Given the description of an element on the screen output the (x, y) to click on. 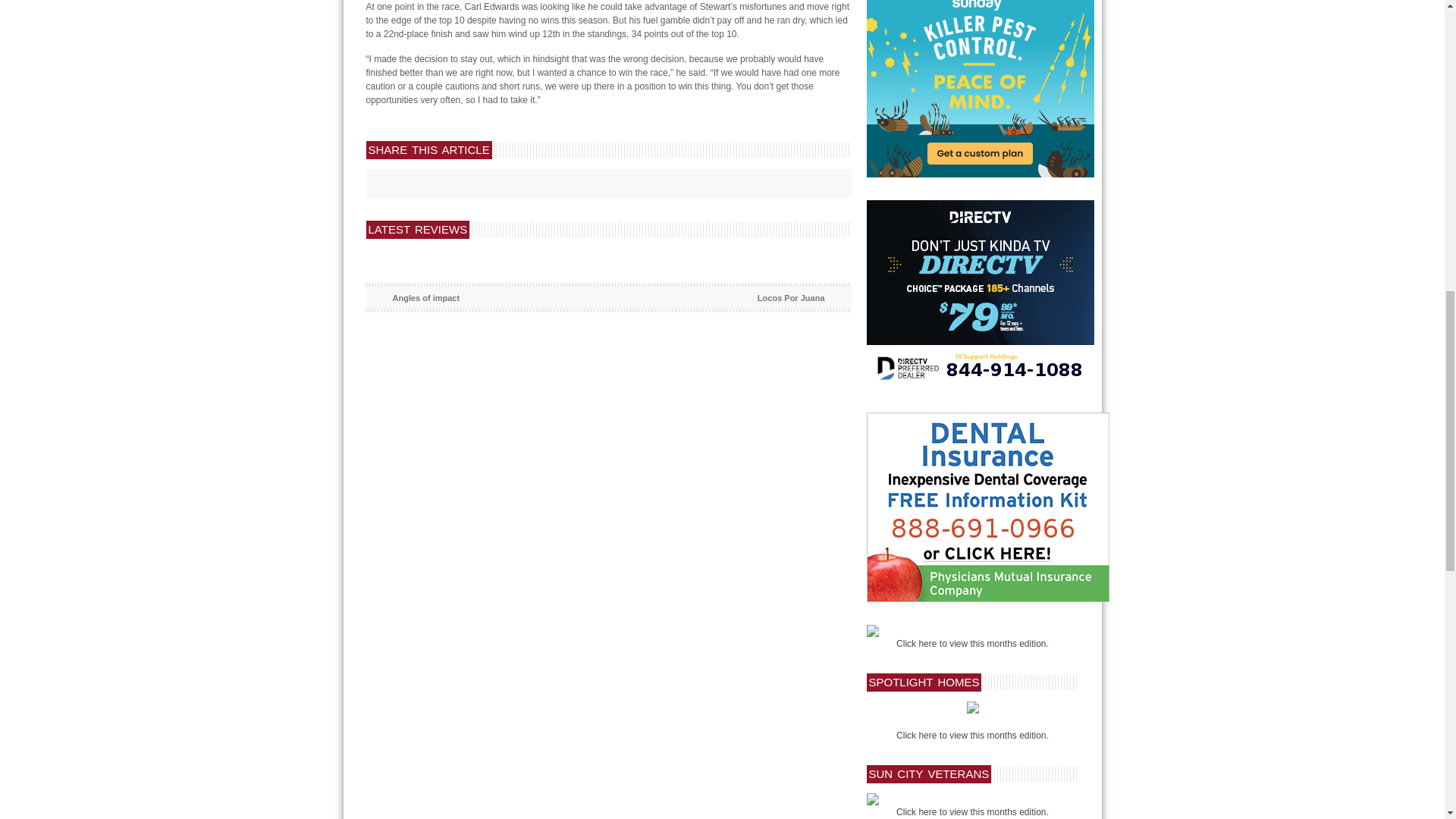
Click here to view this months edition. (972, 643)
Locos Por Juana (791, 297)
Click here to view this months edition. (972, 735)
Click here to view this months edition. (972, 811)
